Given the description of an element on the screen output the (x, y) to click on. 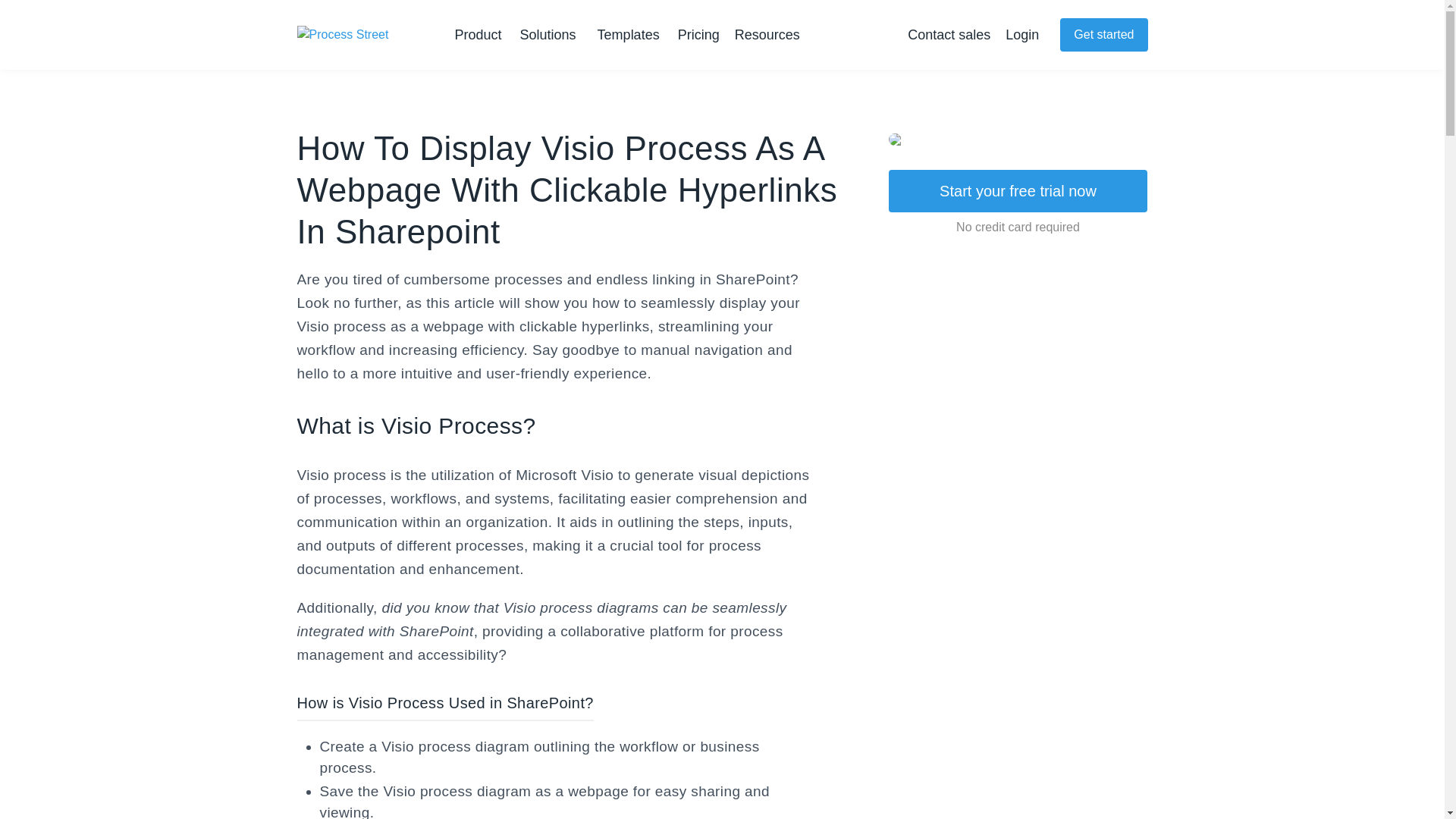
Product (481, 34)
Process Street (358, 35)
Contact sales (948, 34)
Pricing (698, 34)
Resources (770, 34)
Solutions (550, 34)
Login (1022, 34)
Get started (1103, 34)
Templates (627, 34)
